Given the description of an element on the screen output the (x, y) to click on. 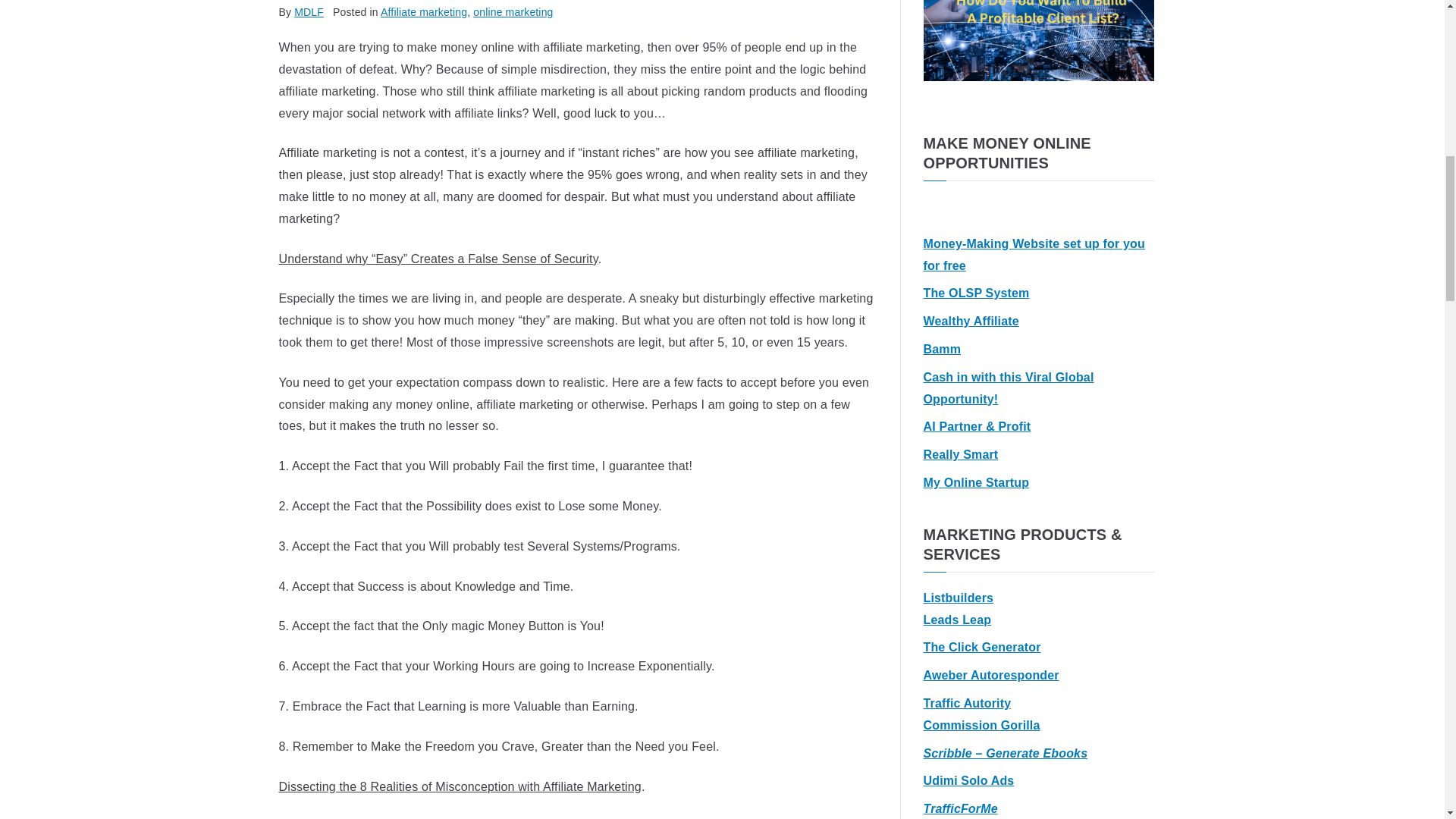
online marketing (513, 11)
MDLF (308, 11)
Affiliate marketing (423, 11)
